Given the description of an element on the screen output the (x, y) to click on. 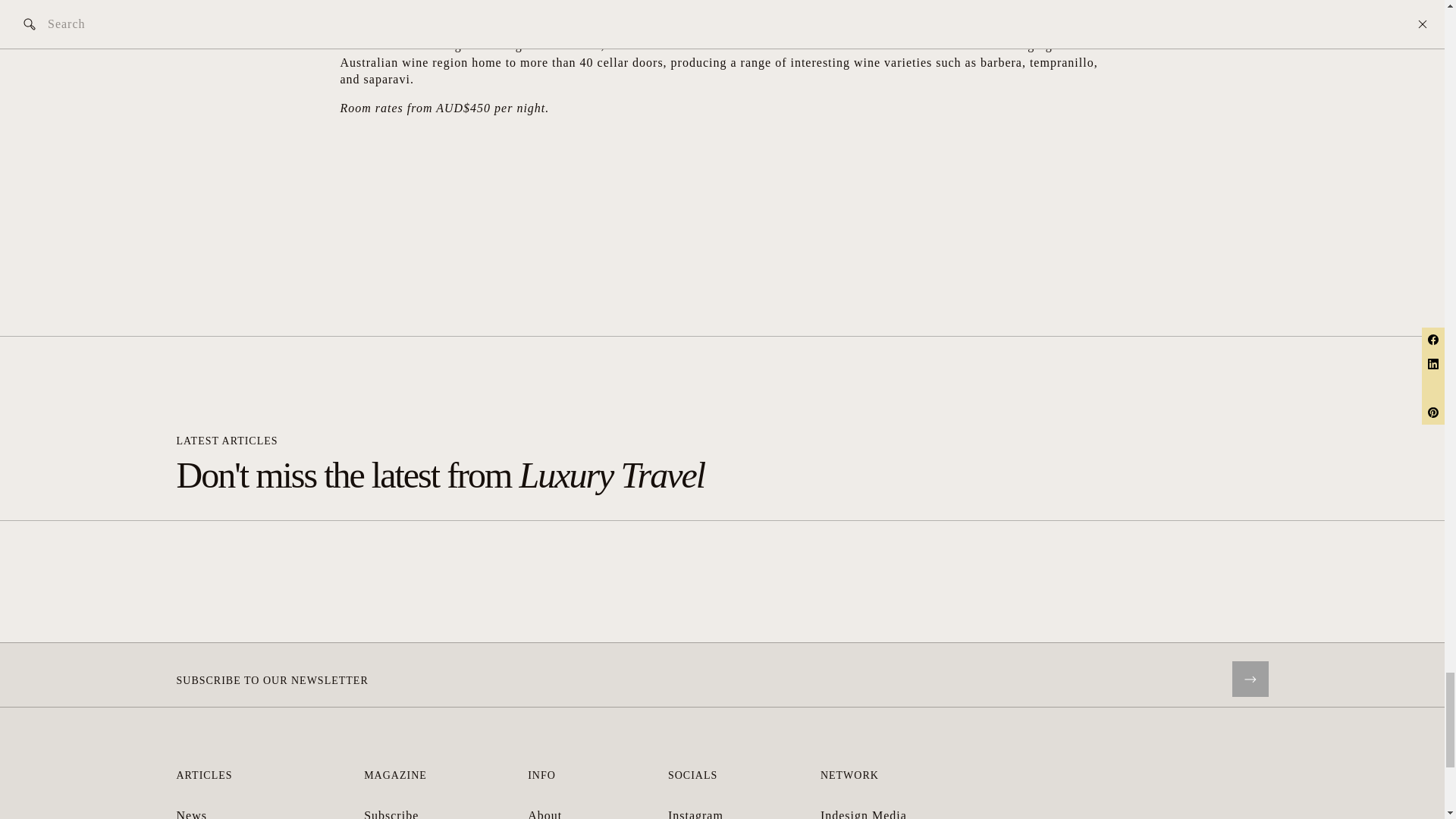
Subscribe (391, 814)
News (191, 814)
About (544, 814)
Instagram (695, 814)
Barrel View Luxury Cabins (534, 11)
